Given the description of an element on the screen output the (x, y) to click on. 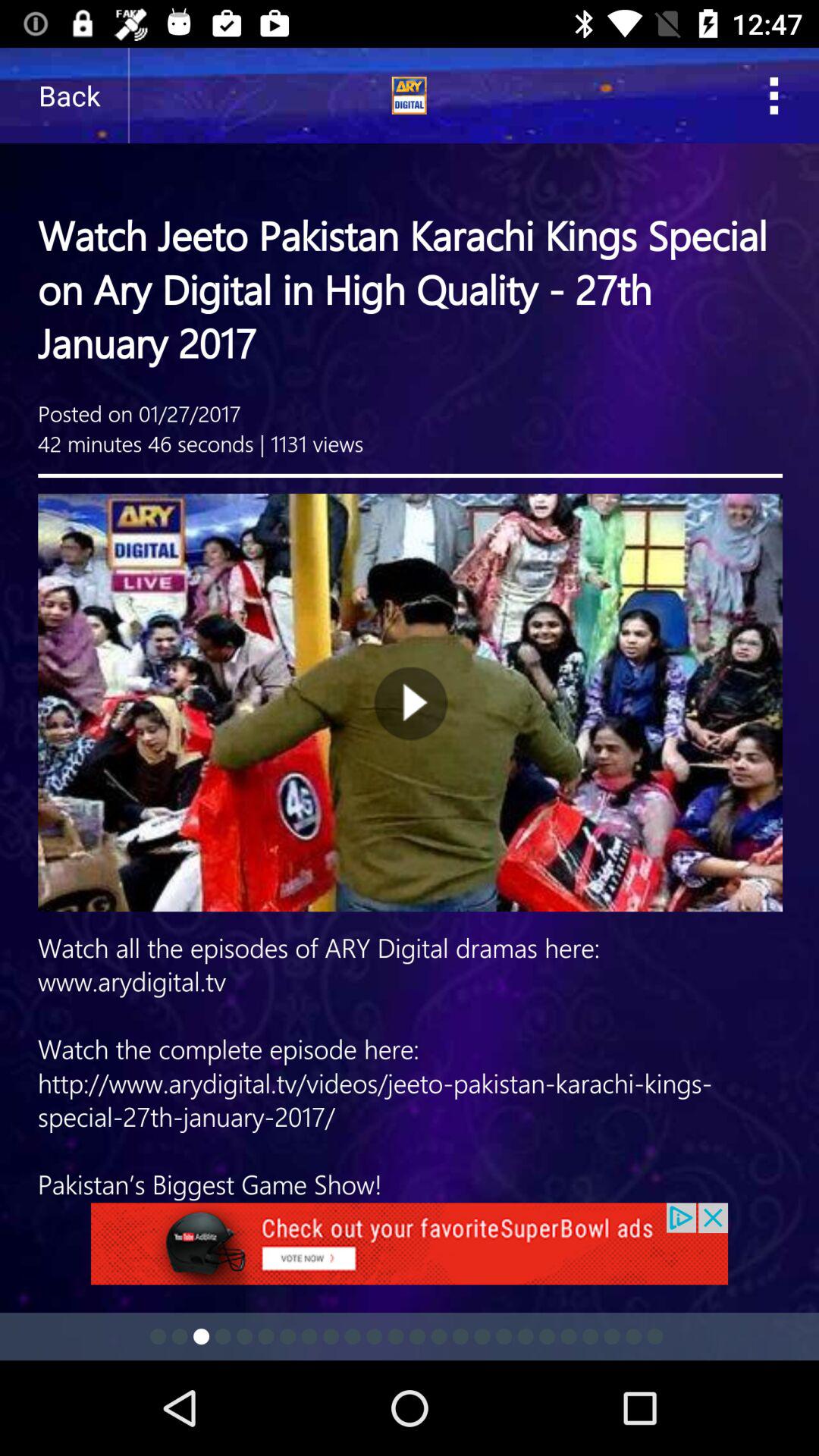
advertisement link (409, 1252)
